Given the description of an element on the screen output the (x, y) to click on. 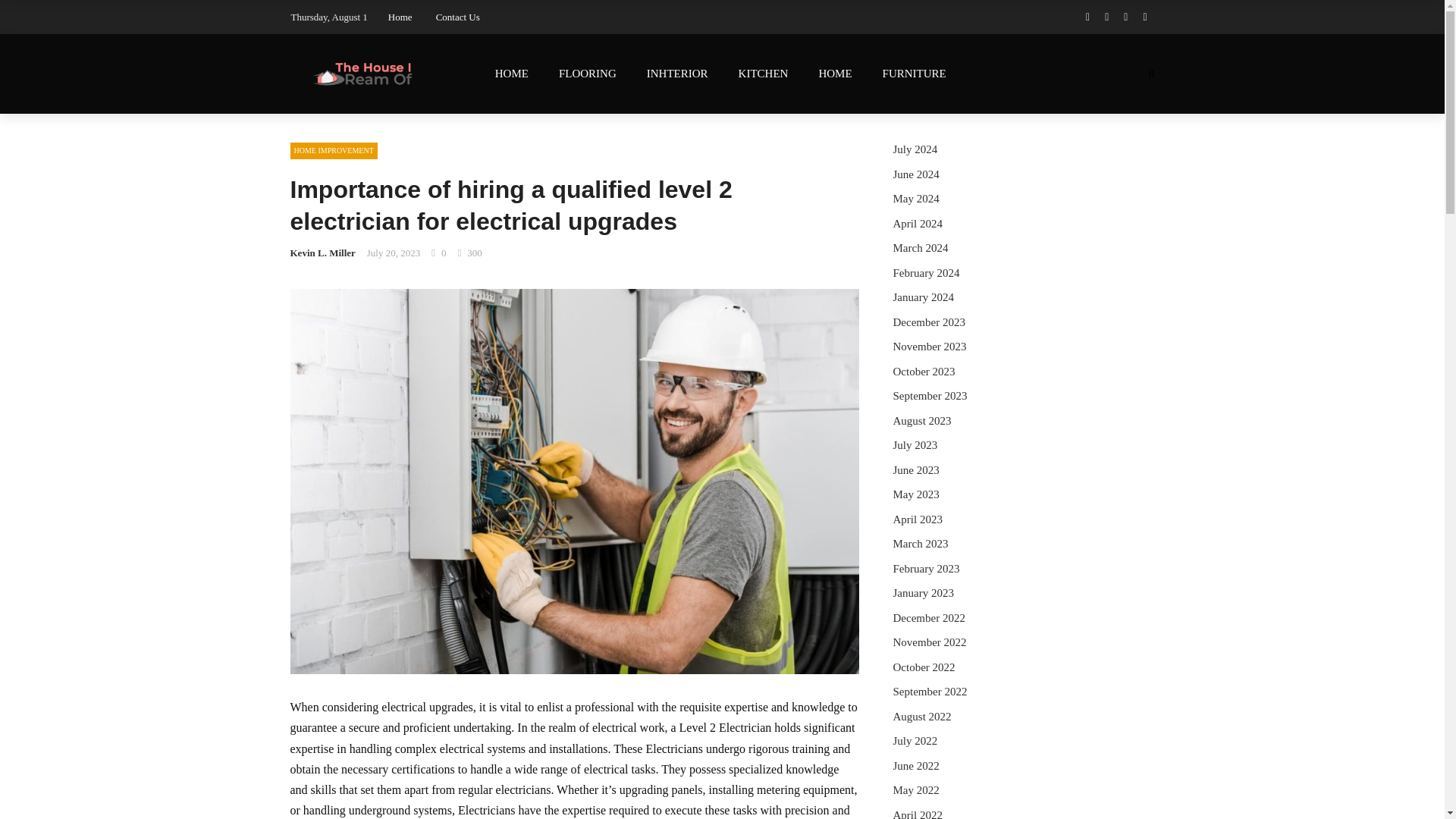
FURNITURE (913, 73)
Kevin L. Miller (322, 252)
Home (400, 16)
KITCHEN (763, 73)
INHTERIOR (677, 73)
FLOORING (587, 73)
Contact Us (457, 16)
HOME IMPROVEMENT (333, 150)
